Given the description of an element on the screen output the (x, y) to click on. 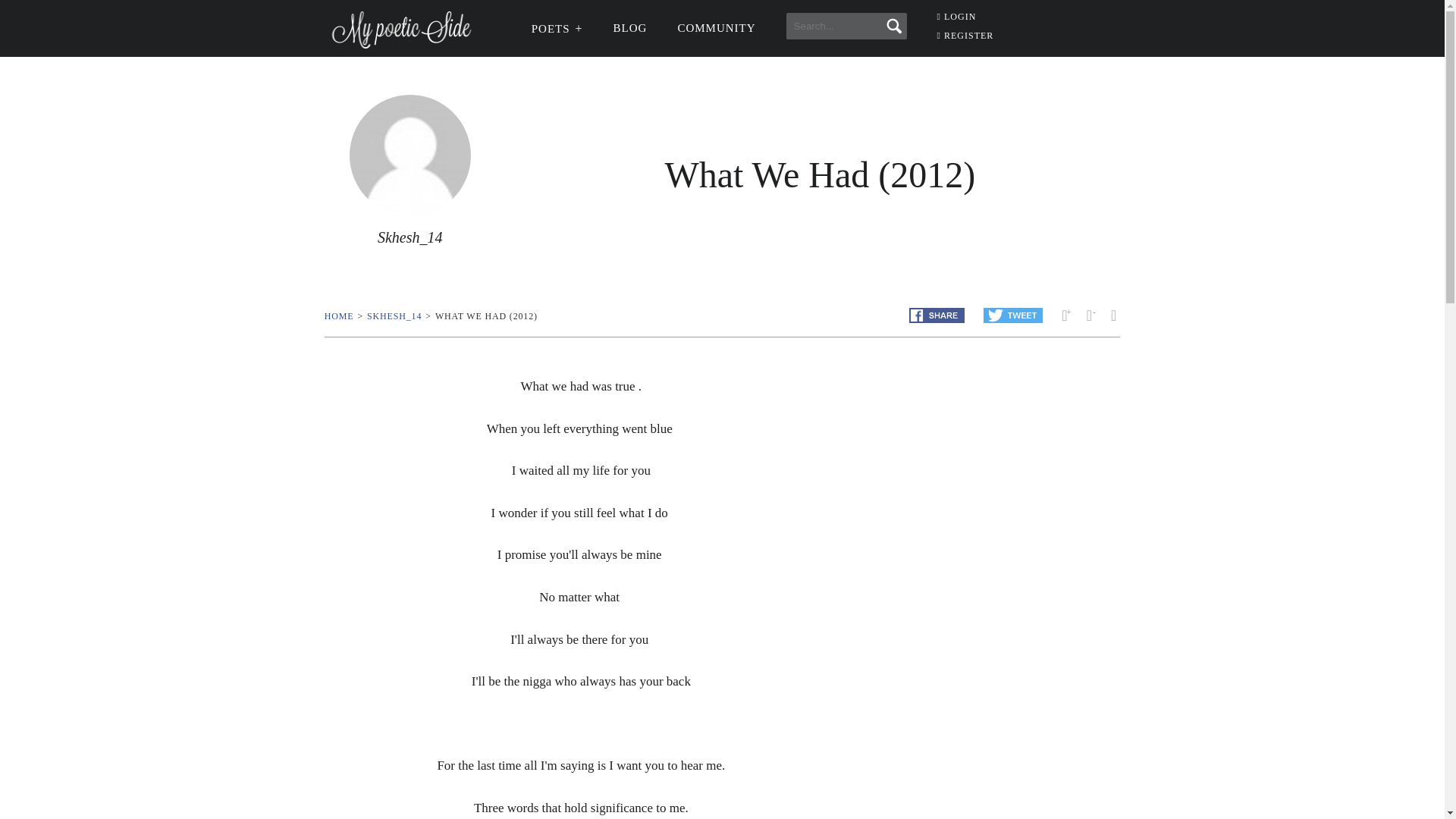
 LOGIN (956, 16)
 REGISTER (965, 35)
